Given the description of an element on the screen output the (x, y) to click on. 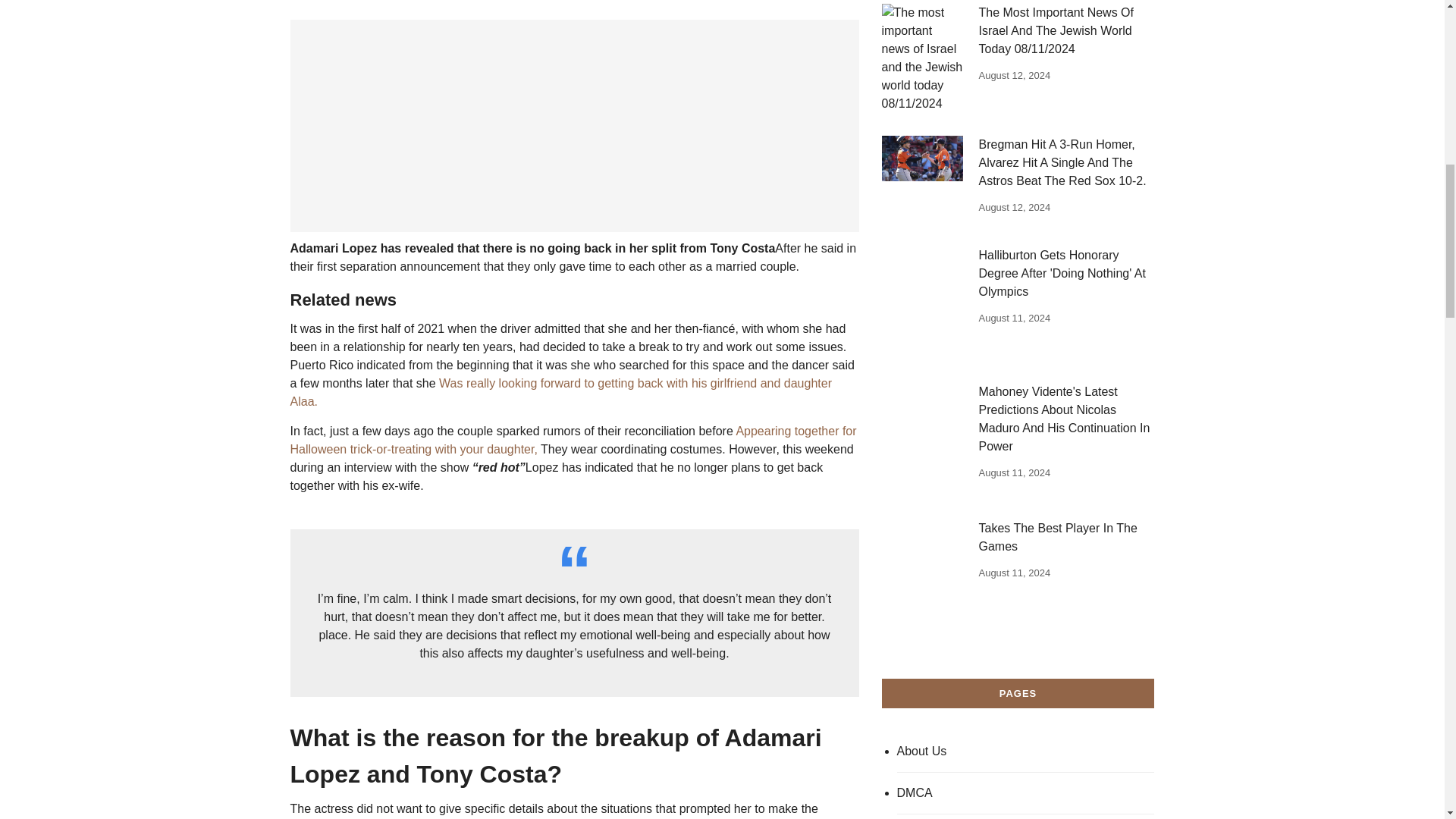
Advertisement (574, 125)
